Given the description of an element on the screen output the (x, y) to click on. 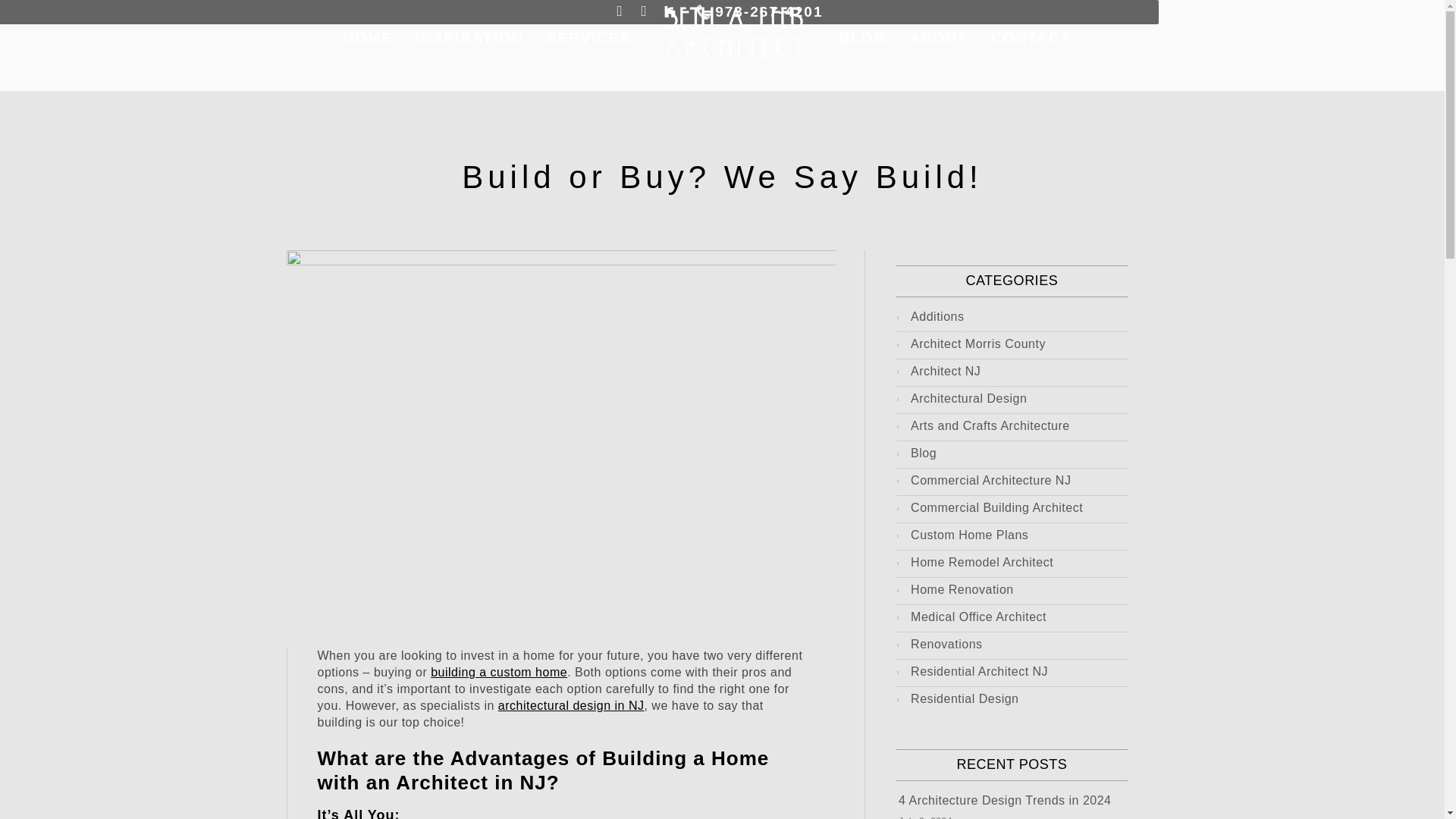
INSPIRATION (469, 38)
SERVICES (589, 38)
